Given the description of an element on the screen output the (x, y) to click on. 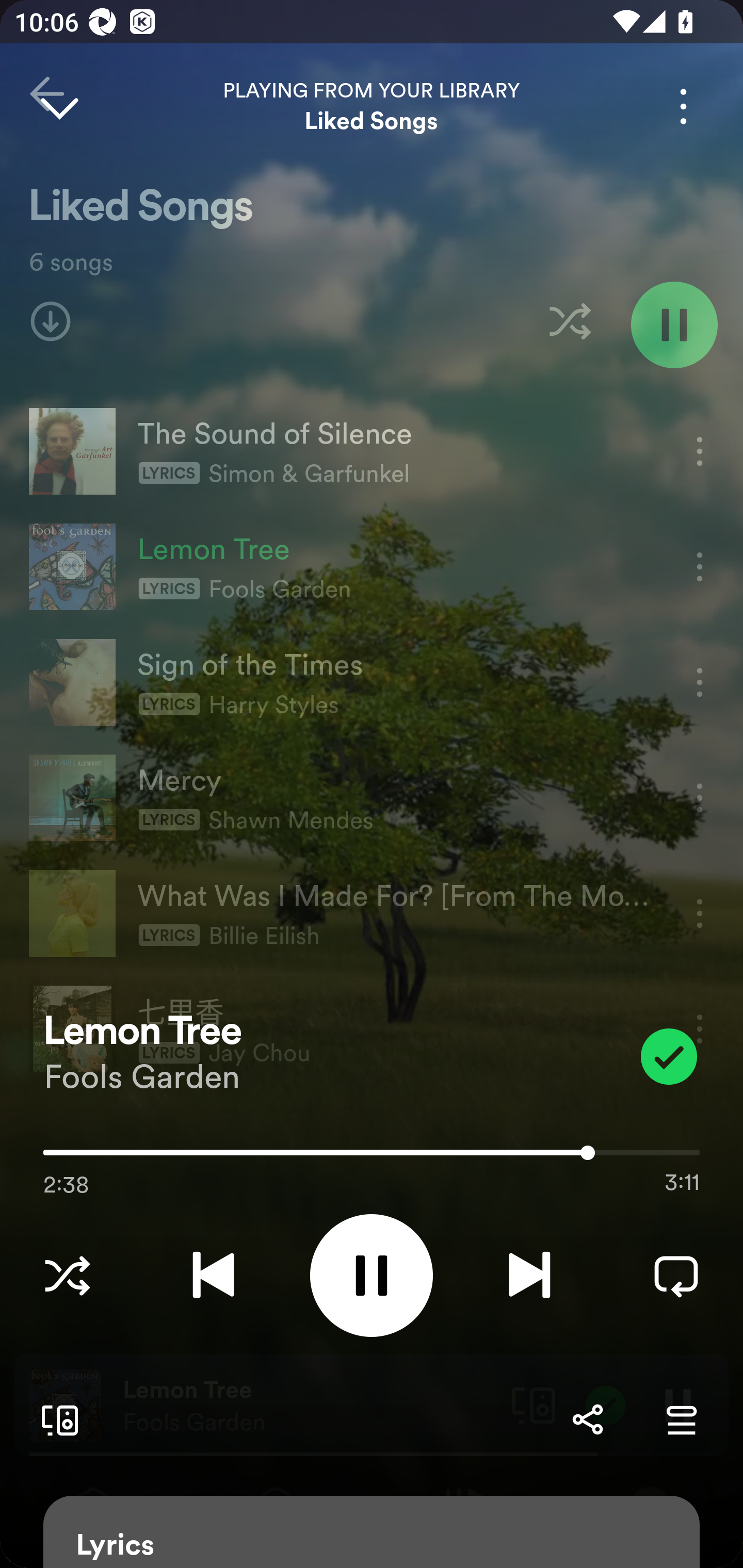
Close (59, 106)
More options for song Lemon Tree (683, 106)
PLAYING FROM YOUR LIBRARY Liked Songs (371, 106)
Item added (669, 1056)
2:38 3:11 158143.0 Use volume keys to adjust (371, 1157)
Pause (371, 1275)
Previous (212, 1275)
Next (529, 1275)
Choose a Listening Mode (66, 1275)
Repeat (676, 1275)
Share (587, 1419)
Go to Queue (681, 1419)
Connect to a device. Opens the devices menu (55, 1419)
Lyrics (371, 1531)
